Given the description of an element on the screen output the (x, y) to click on. 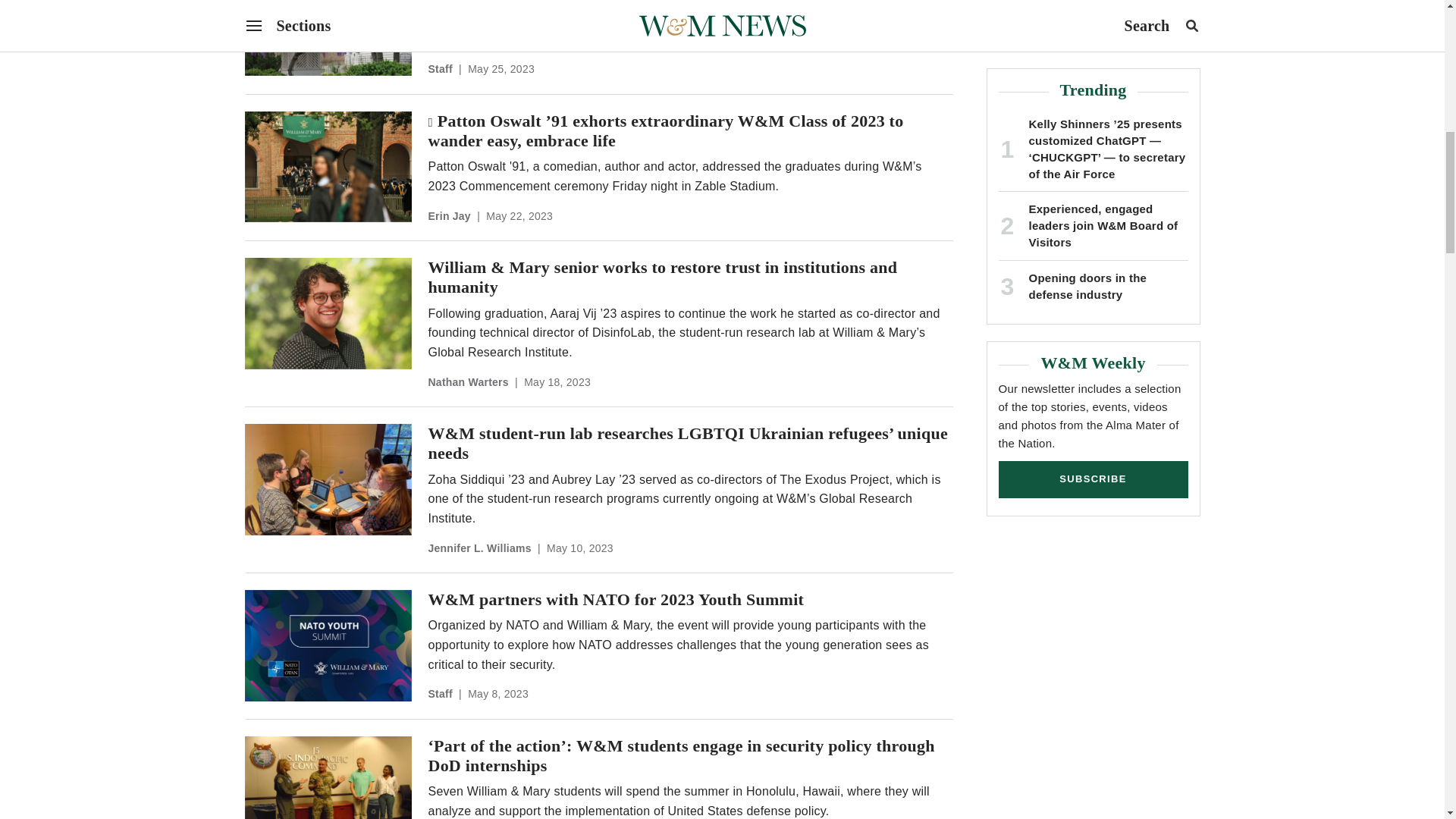
Staff (439, 69)
Erin Jay (449, 215)
